Given the description of an element on the screen output the (x, y) to click on. 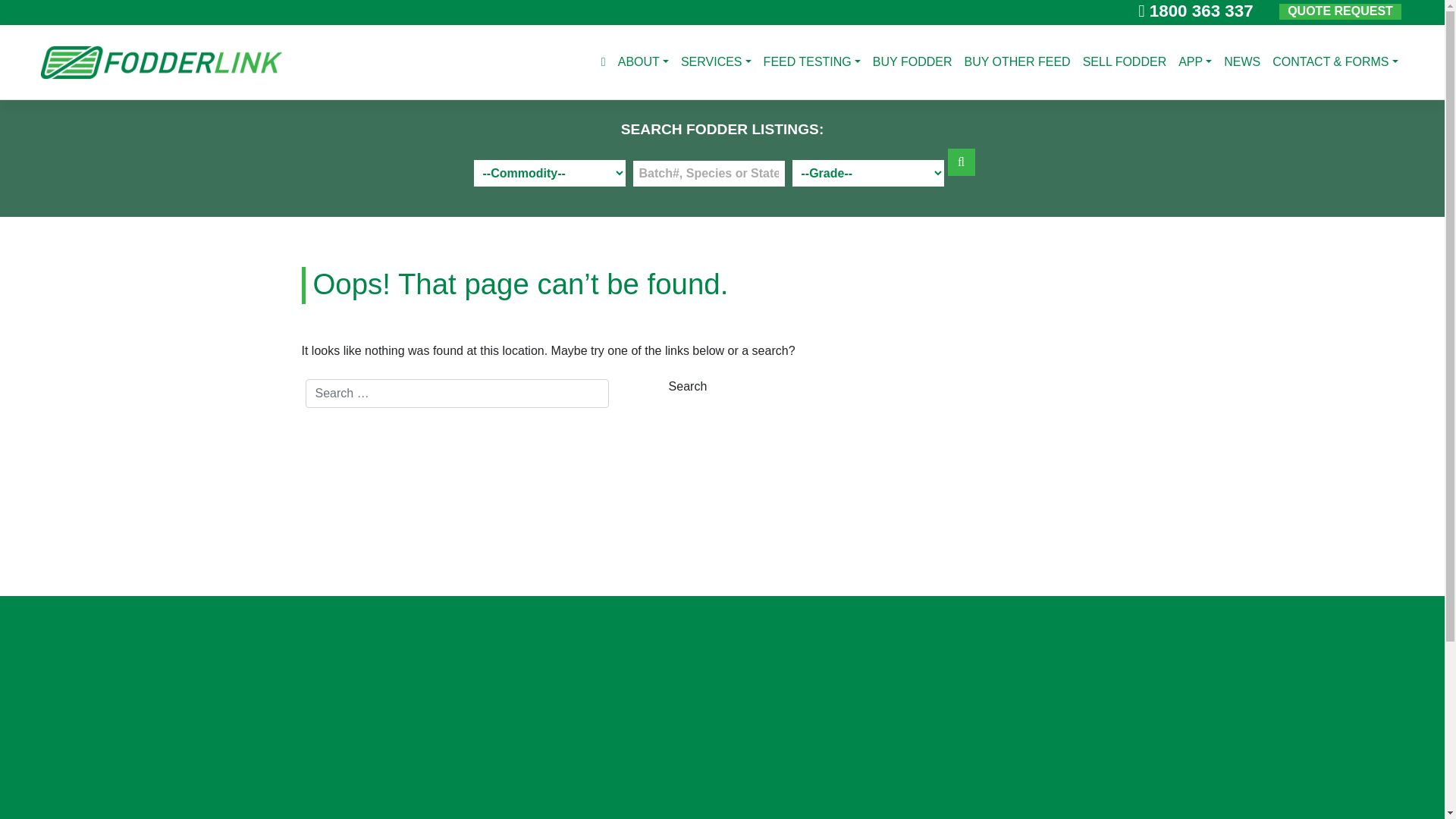
SELL FODDER Element type: text (1124, 62)
BUY OTHER FEED Element type: text (1016, 62)
FEED TESTING Element type: text (811, 62)
ABOUT Element type: text (642, 62)
Search Element type: text (687, 386)
Search for: Element type: hover (456, 393)
1800 363 337 Element type: text (1195, 10)
SERVICES Element type: text (715, 62)
QUOTE REQUEST Element type: text (1340, 11)
CONTACT & FORMS Element type: text (1334, 62)
NEWS Element type: text (1241, 62)
APP Element type: text (1194, 62)
BUY FODDER Element type: text (912, 62)
